Given the description of an element on the screen output the (x, y) to click on. 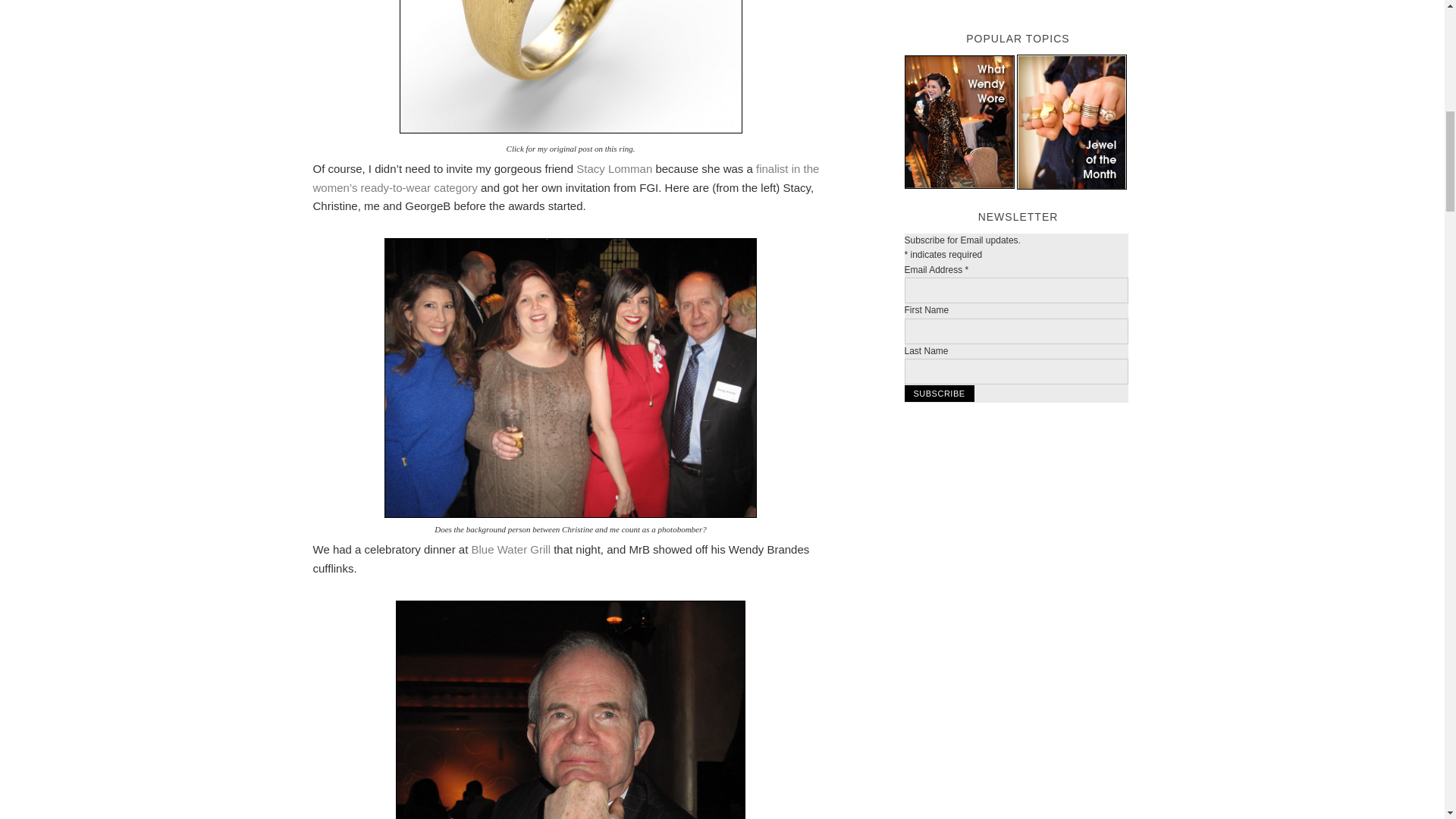
Stacy Lomman (614, 168)
risingpaul (570, 709)
Blue Water Grill (510, 549)
Subscribe (939, 393)
tiger2crop-754x1024 (569, 66)
risingstargroupEDITsmall (570, 377)
